Given the description of an element on the screen output the (x, y) to click on. 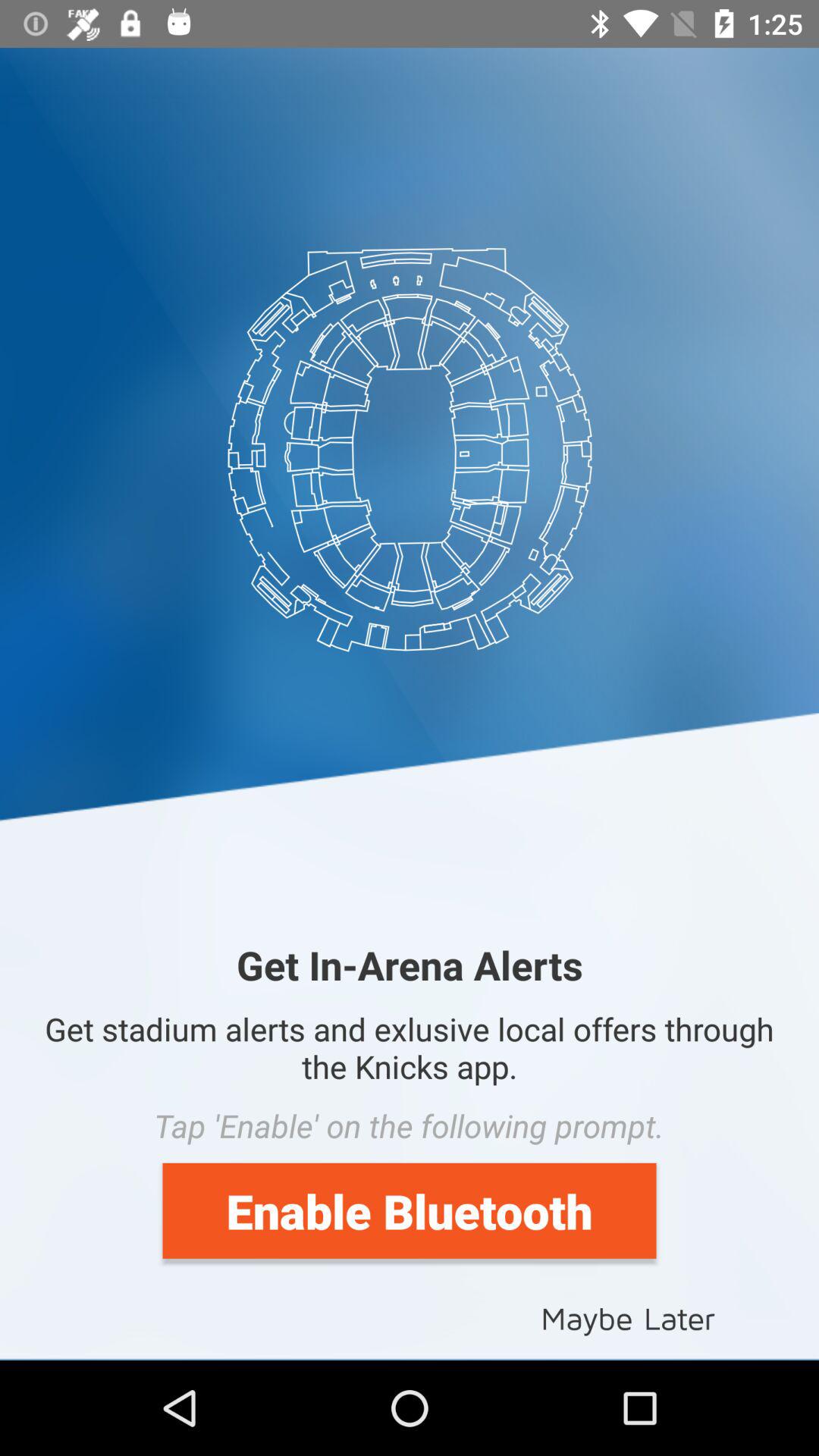
turn off icon below the enable bluetooth (627, 1317)
